Given the description of an element on the screen output the (x, y) to click on. 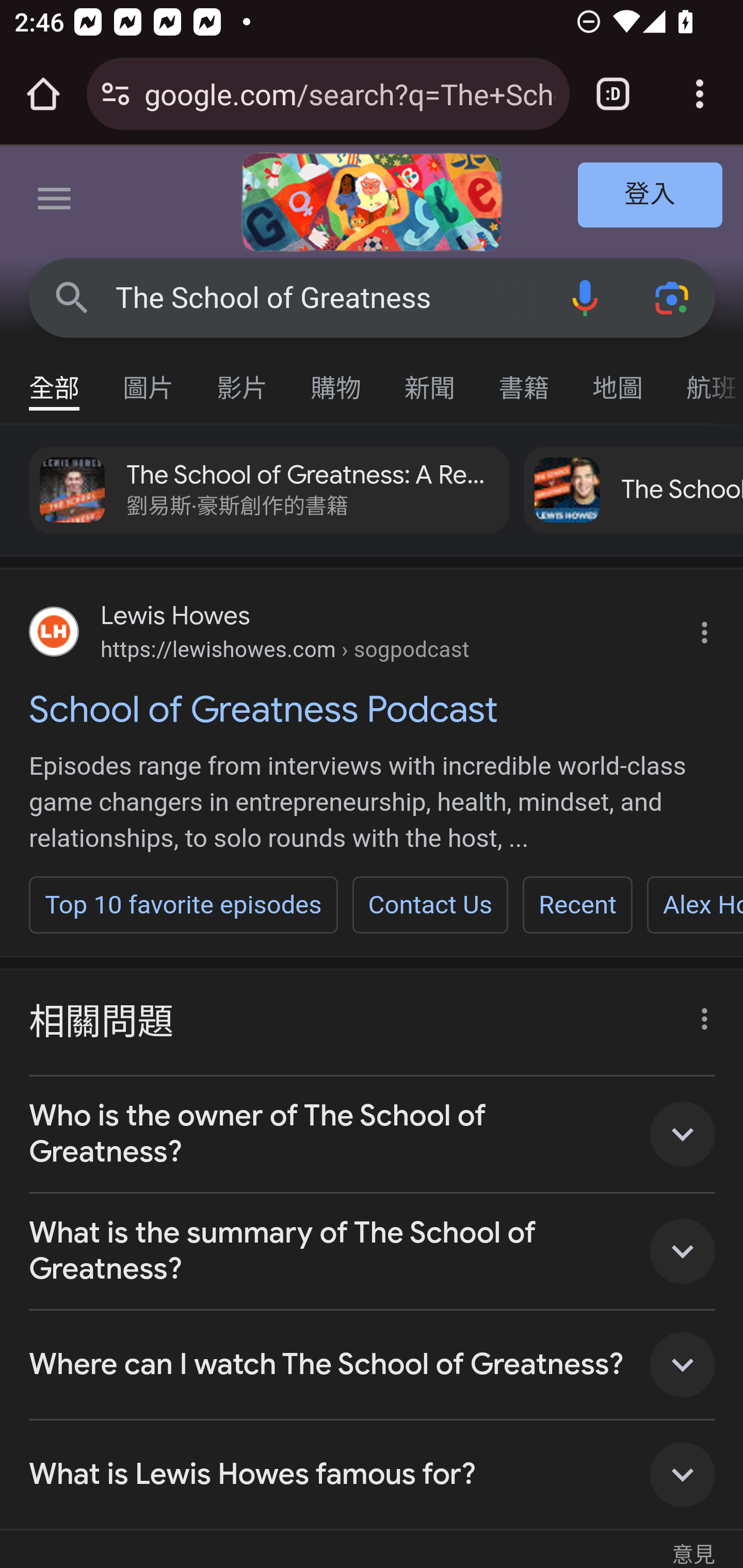
Open the home page (43, 93)
Connection is secure (115, 93)
Switch or close tabs (612, 93)
Customize and control Google Chrome (699, 93)
2024 年國際婦女節 (371, 202)
主選單 (54, 202)
登入 (650, 195)
Google 搜尋 (71, 296)
使用相機或相片搜尋 (672, 296)
The School of Greatness (328, 297)
圖片 (148, 378)
影片 (242, 378)
購物 (336, 378)
新聞 (430, 378)
書籍 (524, 378)
地圖 (618, 378)
航班 (703, 378)
School of Greatness Podcast (372, 708)
Top 10 favorite episodes (183, 904)
Contact Us (429, 904)
Recent (577, 904)
Alex Hormozi (694, 904)
關於此結果 (698, 1013)
Who is the owner of The School of Greatness? (372, 1134)
What is the summary of The School of Greatness? (372, 1251)
Where can I watch The School of Greatness? (372, 1365)
What is Lewis Howes famous for? (372, 1474)
意見 (693, 1537)
